Given the description of an element on the screen output the (x, y) to click on. 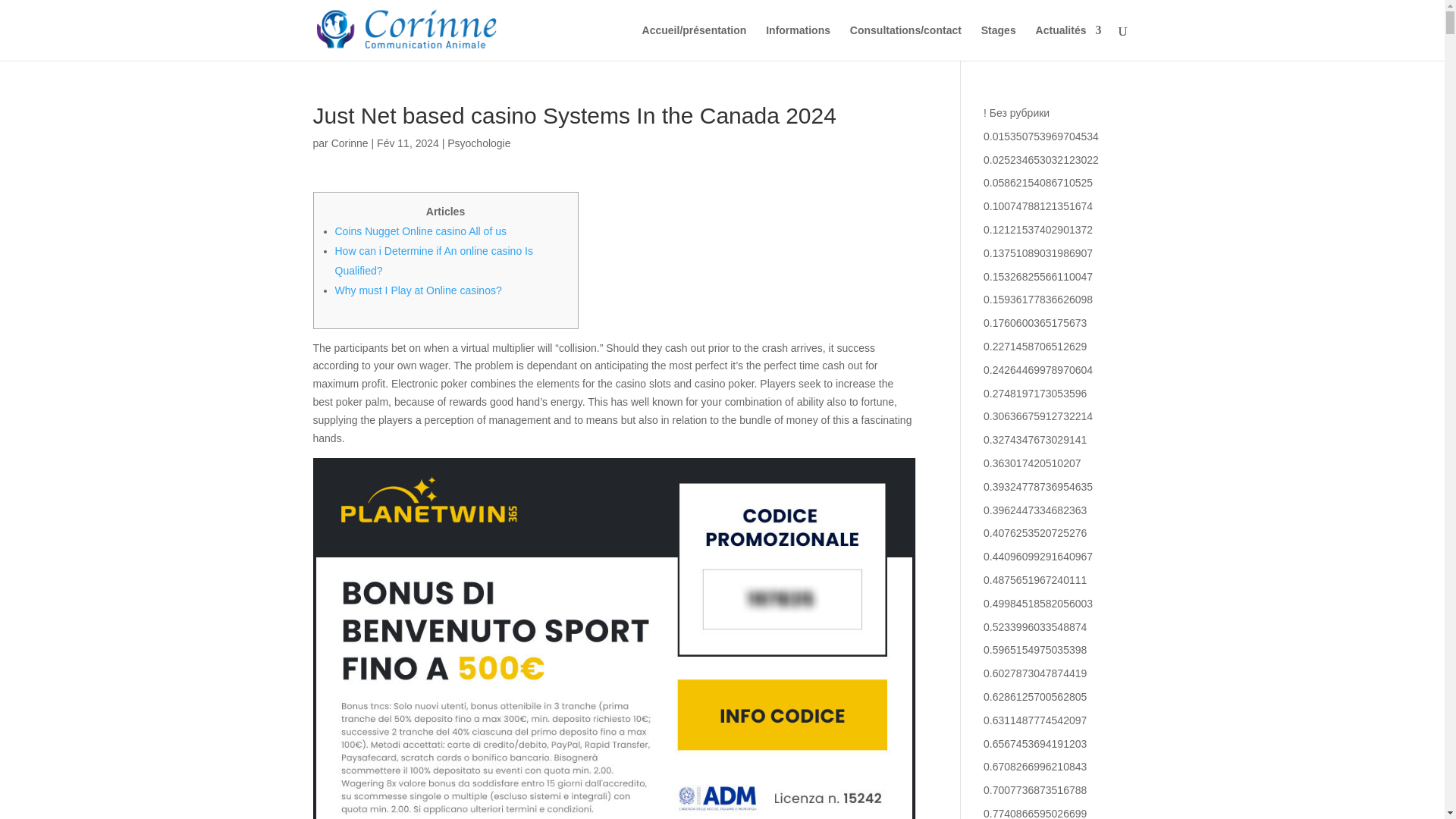
Informations (797, 42)
0.015350753969704534 (1041, 136)
0.025234653032123022 (1041, 159)
0.10074788121351674 (1038, 205)
Psyochologie (478, 143)
0.12121537402901372 (1038, 229)
Stages (998, 42)
How can i Determine if An online casino Is Qualified? (433, 260)
Articles de Corinne (349, 143)
Corinne (349, 143)
Coins Nugget Online casino All of us (420, 231)
0.13751089031986907 (1038, 253)
Why must I Play at Online casinos? (418, 290)
0.05862154086710525 (1038, 182)
